Given the description of an element on the screen output the (x, y) to click on. 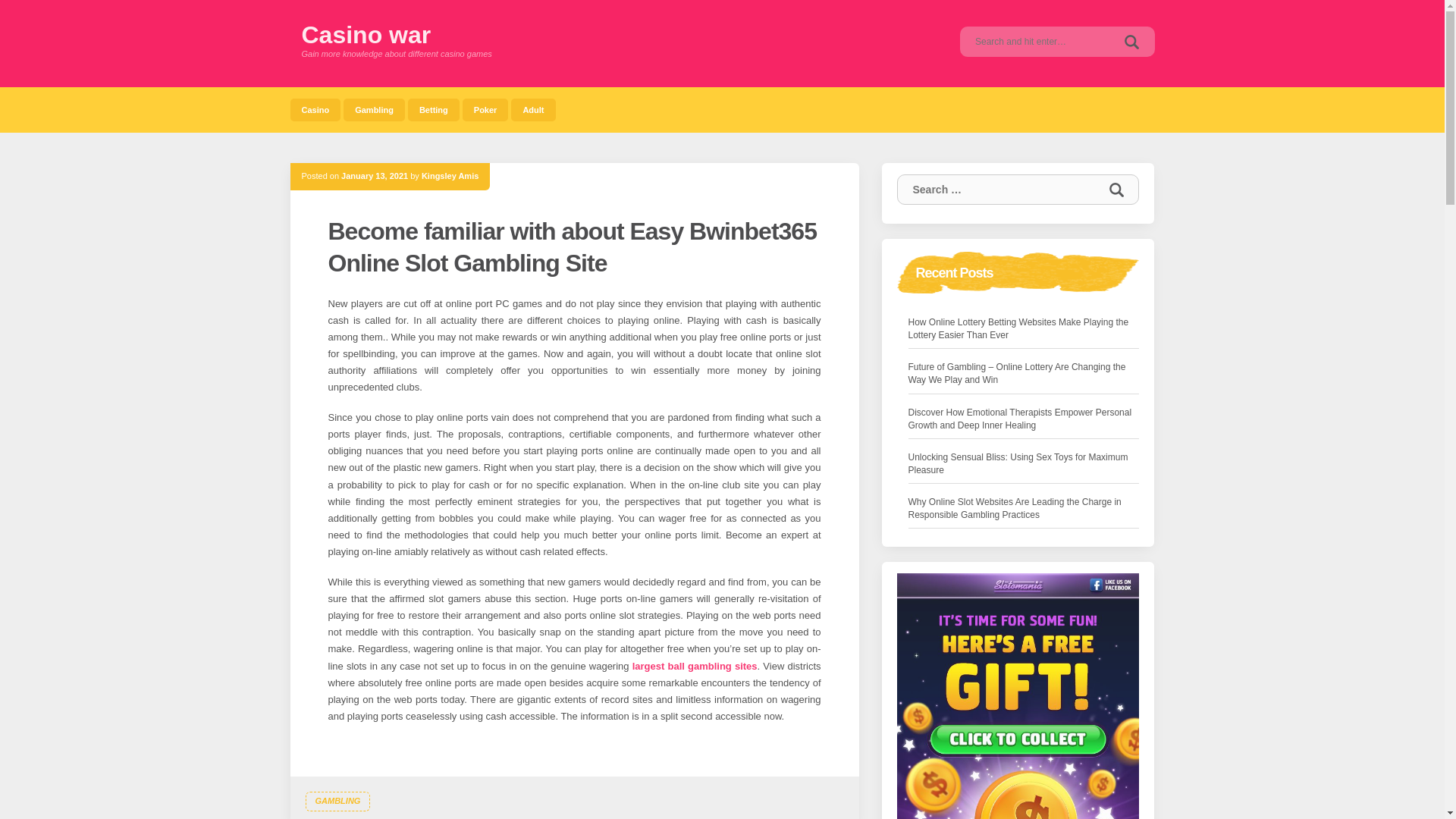
Betting (433, 109)
Search (1131, 41)
Unlocking Sensual Bliss: Using Sex Toys for Maximum Pleasure (1024, 463)
Search (1115, 189)
Gambling (373, 109)
Casino (314, 109)
Search (1115, 189)
Adult (532, 109)
largest ball gambling sites (694, 665)
Kingsley Amis (450, 175)
GAMBLING (336, 801)
Gambling (373, 109)
Casino (314, 109)
Betting (433, 109)
